Given the description of an element on the screen output the (x, y) to click on. 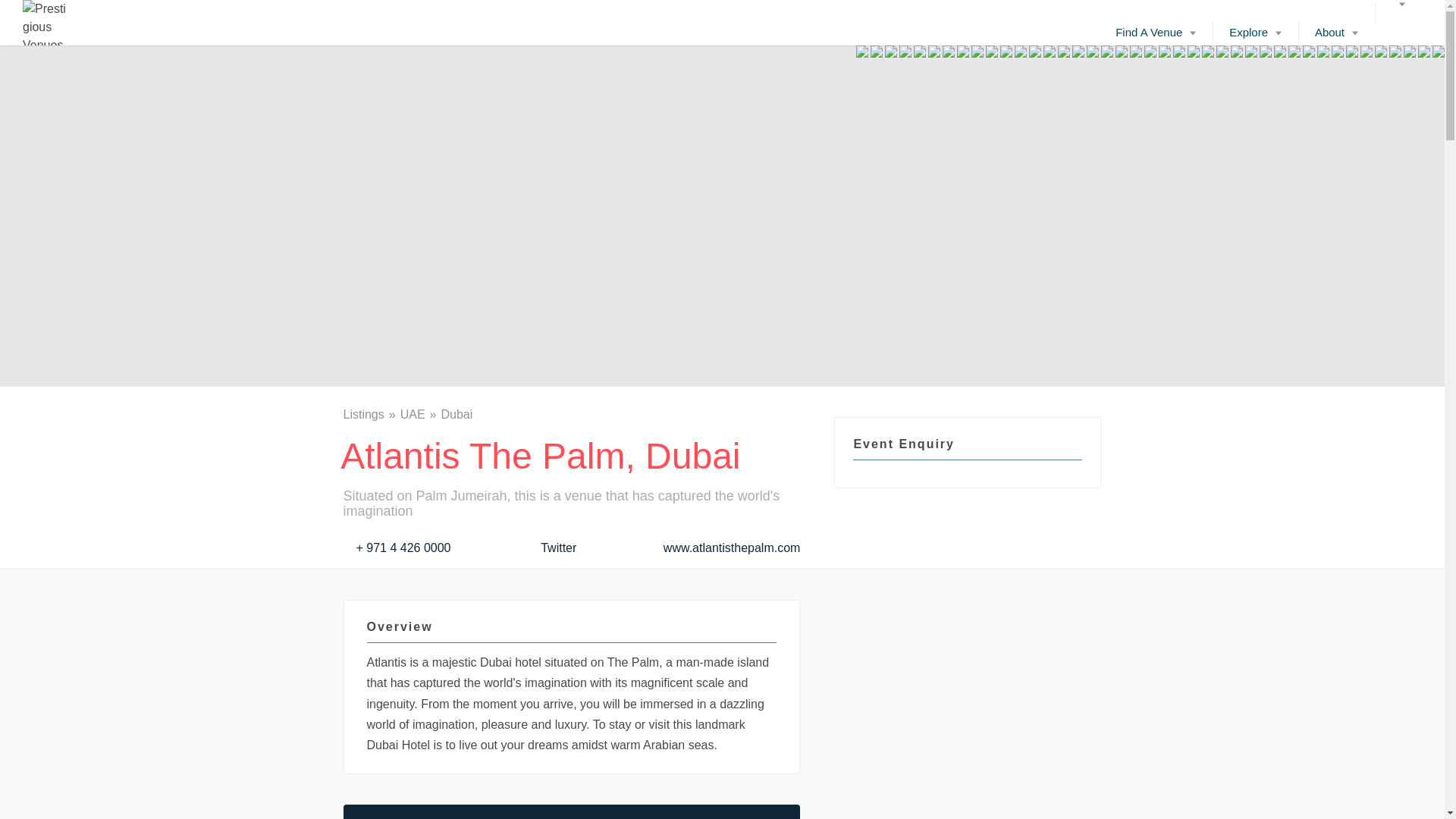
Explore the best event spaces (1255, 31)
About Prestigious Venues and how to contact us (1336, 31)
